Given the description of an element on the screen output the (x, y) to click on. 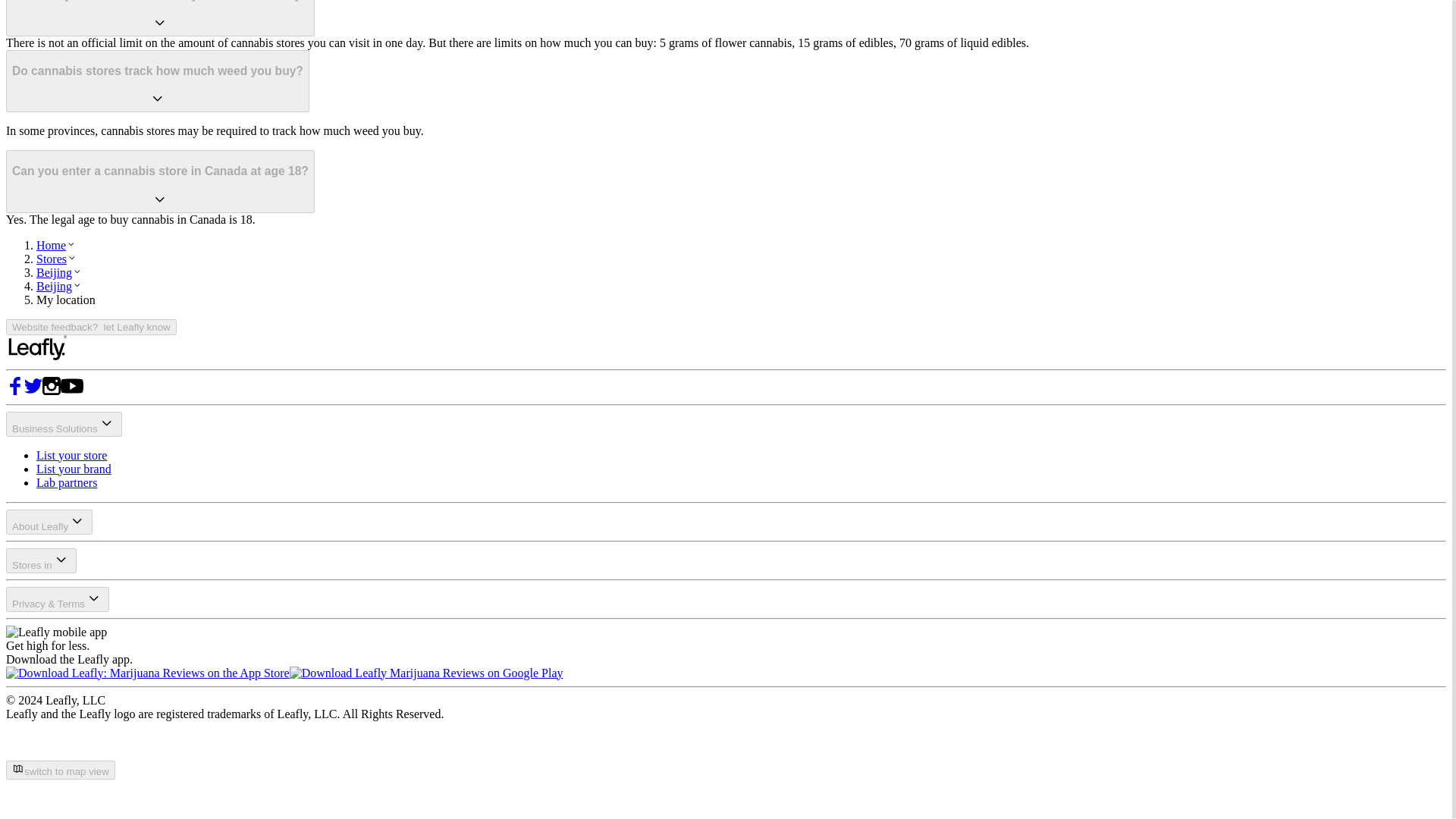
Leafly on Instagram (51, 390)
Leafly on YouTube (71, 390)
Leafly on Google Play (426, 672)
Leafly on Facebook (14, 390)
Leafly on the App Store (147, 672)
Leafly on Twitter (33, 390)
